Given the description of an element on the screen output the (x, y) to click on. 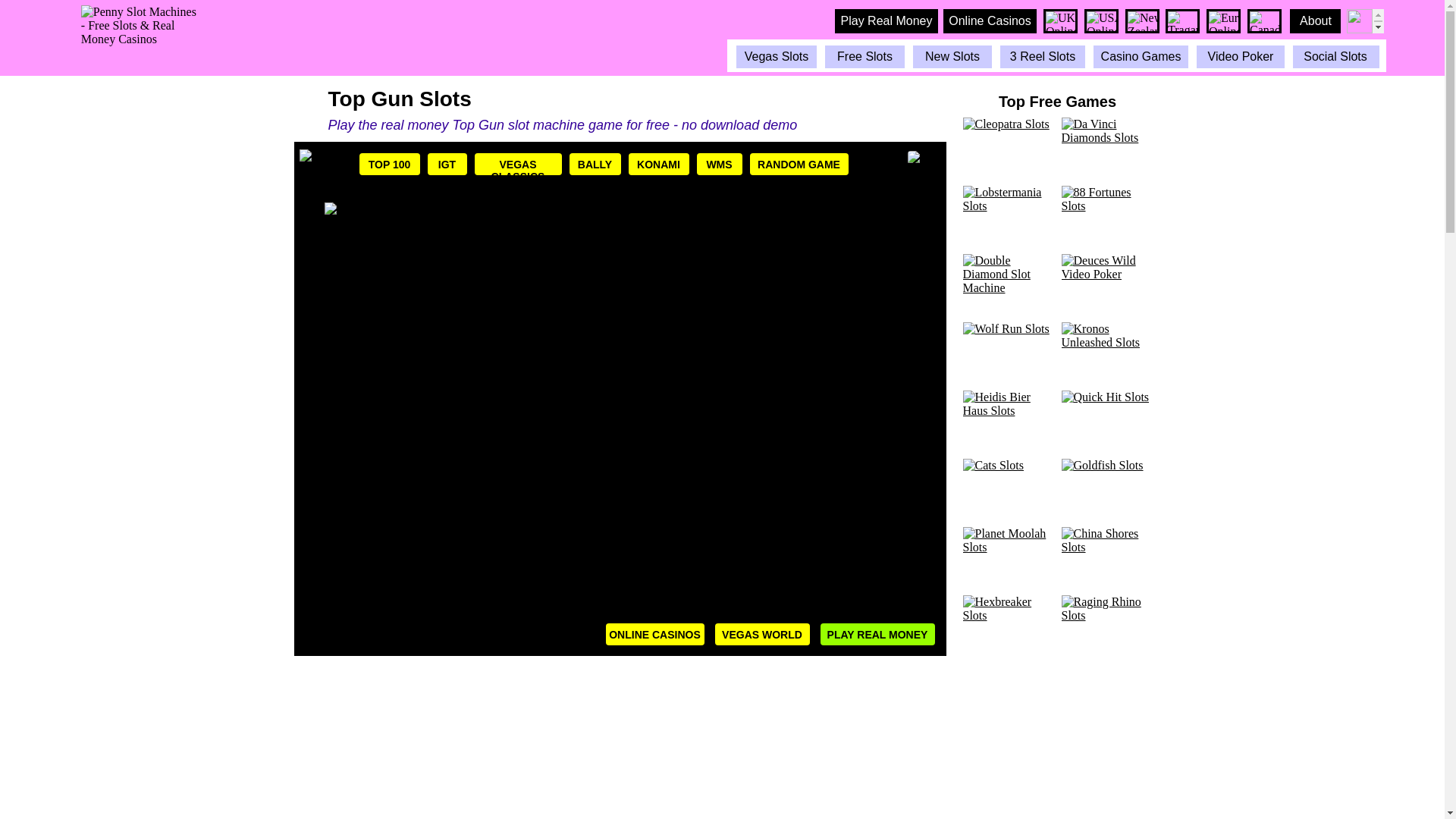
New Slots (951, 56)
About (1315, 20)
Free Slots (864, 56)
Casino Games (1140, 56)
Social Slots (1335, 56)
Casino Games (1140, 56)
New Online Slots (951, 56)
Video Poker (1241, 56)
Vegas Slots (775, 56)
Vegas Slots (775, 56)
